Given the description of an element on the screen output the (x, y) to click on. 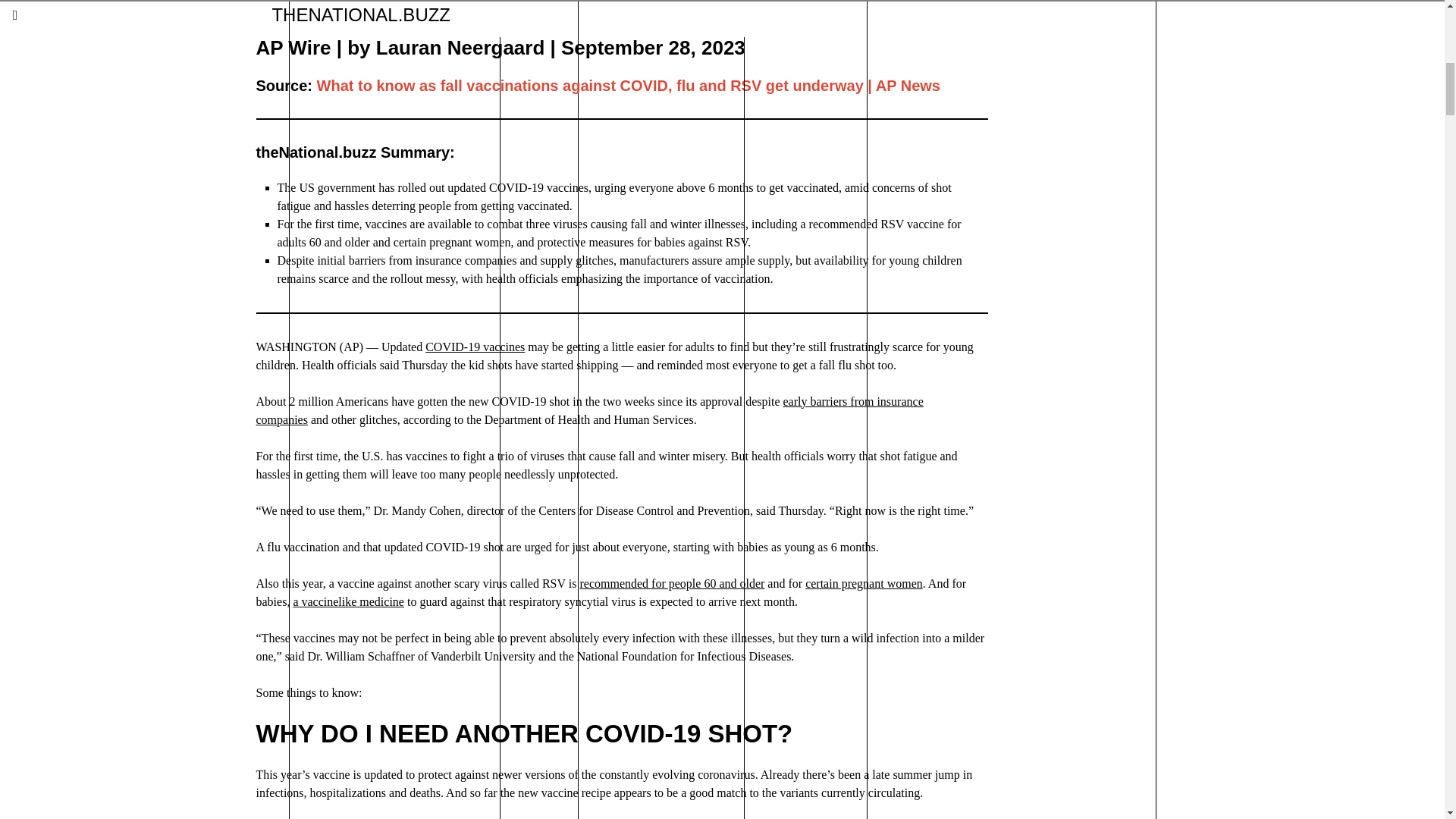
early barriers from insurance companies (589, 409)
COVID-19 vaccines (474, 346)
certain pregnant women (1397, 19)
a vaccinelike medicine (864, 583)
recommended for people 60 and older (348, 601)
